Given the description of an element on the screen output the (x, y) to click on. 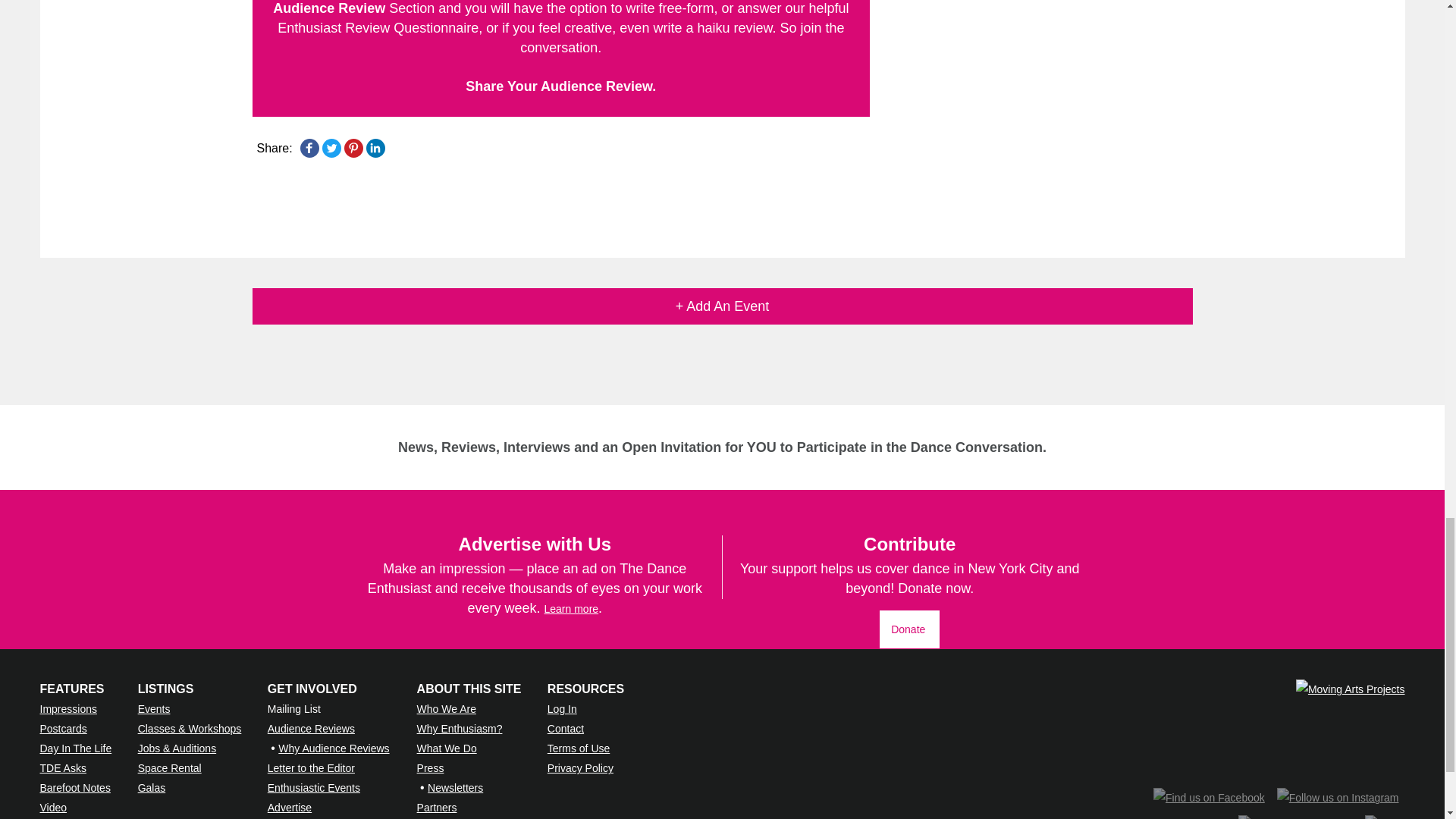
Facebook (309, 147)
Pinterest (353, 147)
Twitter (331, 147)
LinkedIn (375, 147)
